Given the description of an element on the screen output the (x, y) to click on. 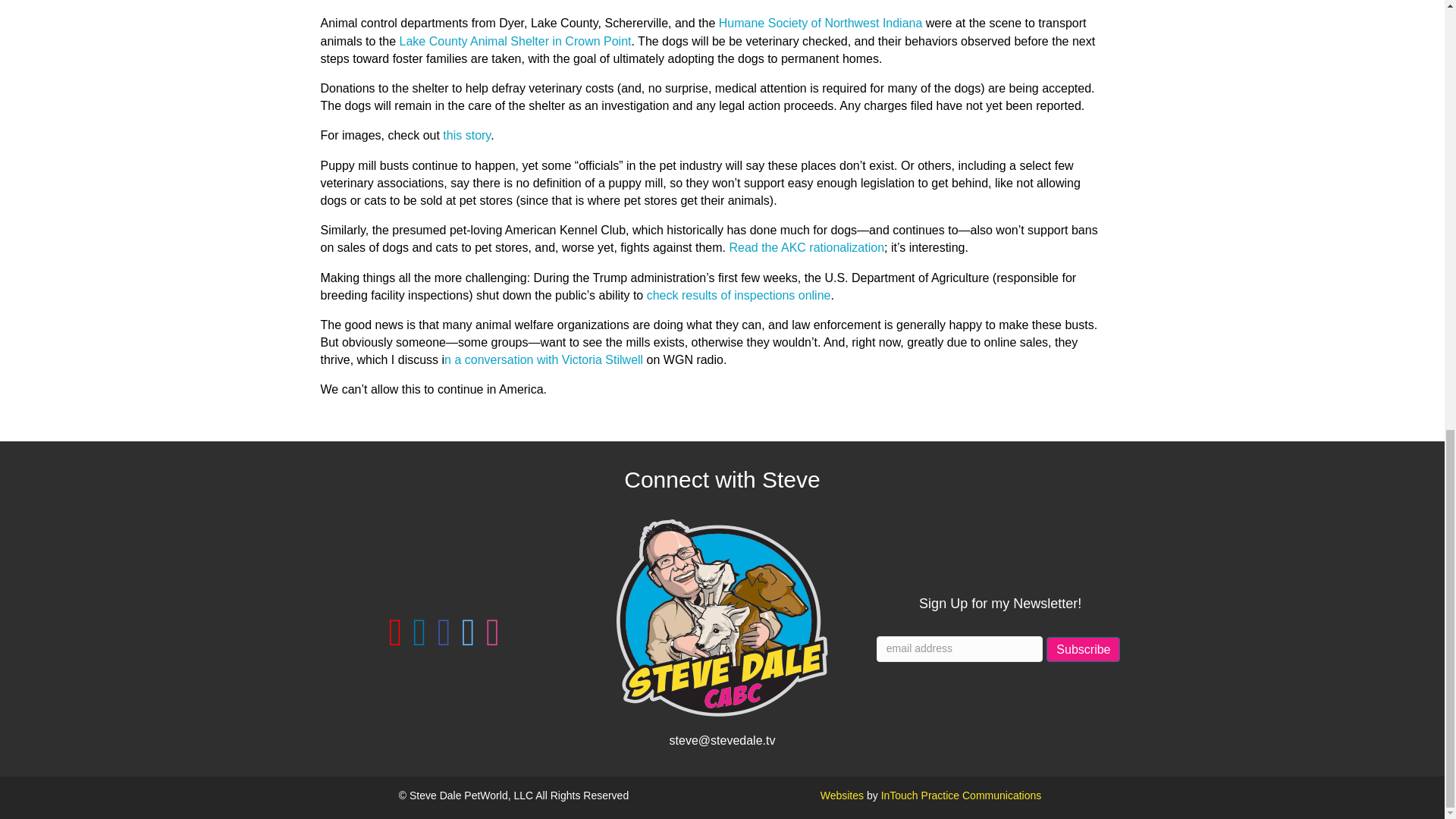
Subscribe (1082, 649)
Lake County Animal Shelter in Crown Point (514, 41)
Websites (842, 795)
Humane Society of Northwest Indiana (822, 22)
Read the AKC rationalization (806, 246)
check results of inspections online (738, 295)
Subscribe (1082, 649)
n a conversation with Victoria Stilwell (543, 359)
InTouch Practice Communications (961, 795)
this story (466, 134)
